Given the description of an element on the screen output the (x, y) to click on. 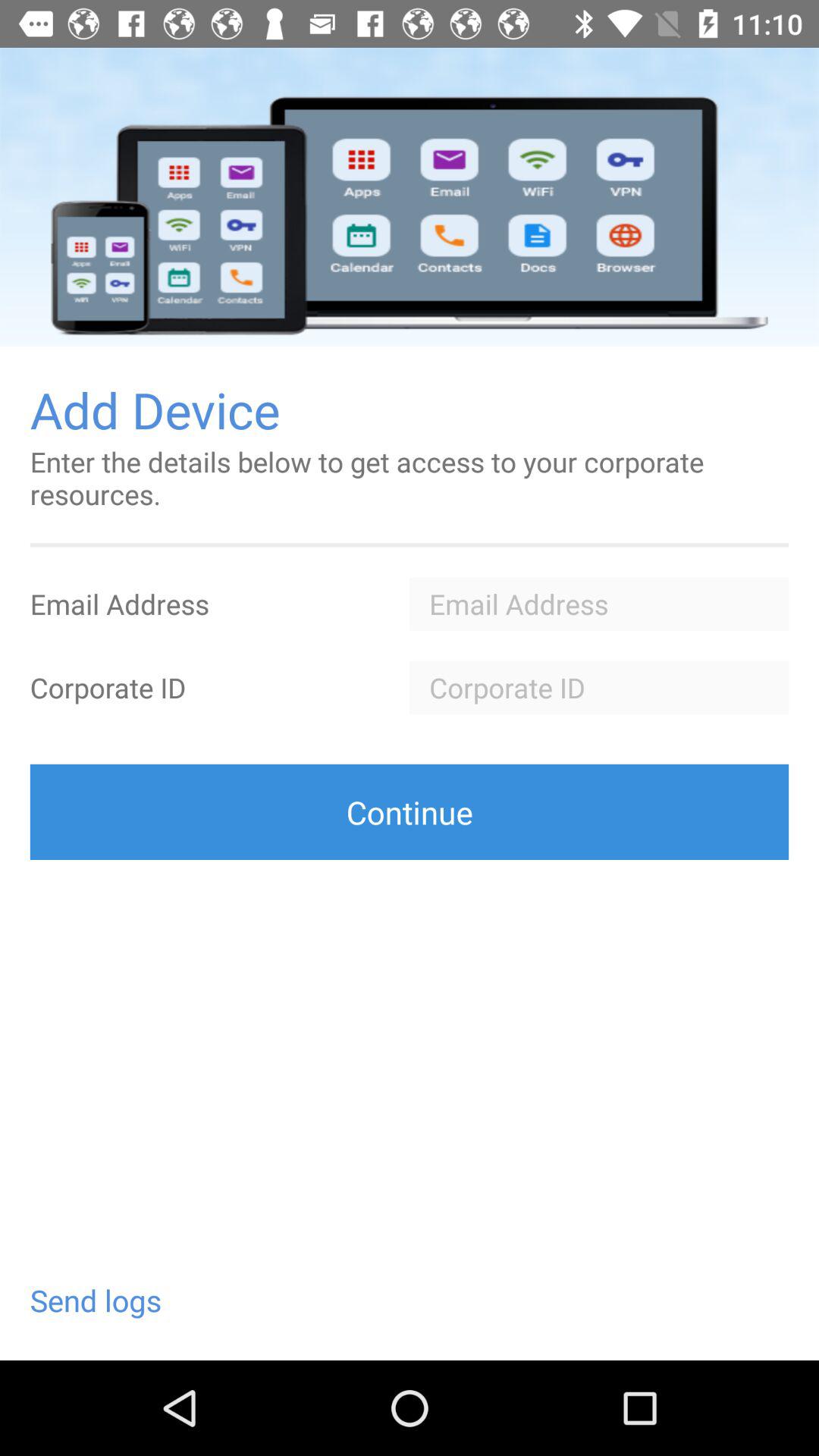
type text (598, 687)
